Given the description of an element on the screen output the (x, y) to click on. 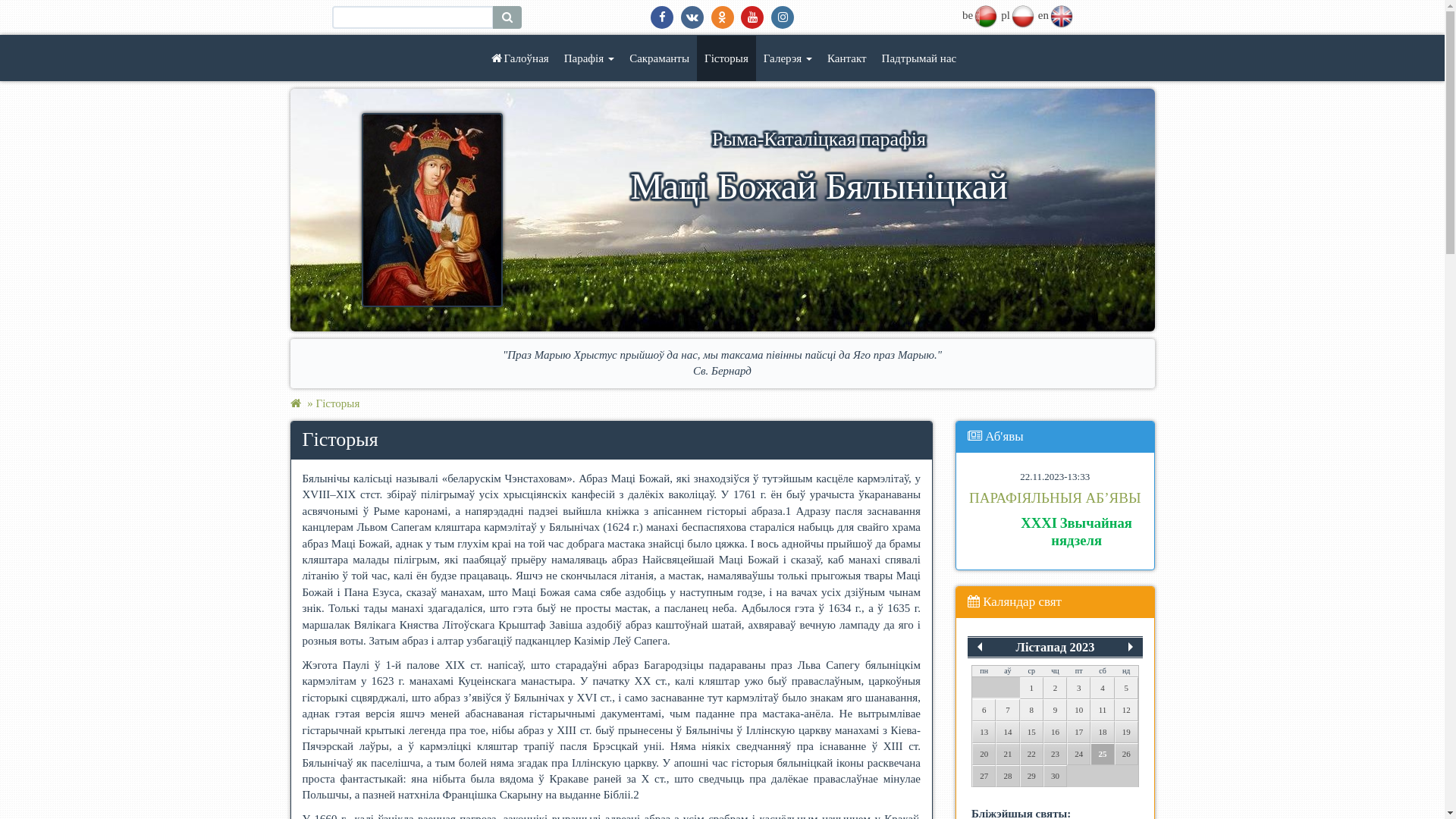
23 Element type: text (1054, 754)
28 Element type: text (1007, 776)
30 Element type: text (1054, 776)
1 Element type: text (1031, 688)
4 Element type: text (1101, 688)
21 Element type: text (1007, 754)
be Element type: text (984, 15)
en Element type: text (1060, 15)
next Element type: text (1130, 646)
10 Element type: text (1078, 710)
19 Element type: text (1126, 732)
26 Element type: text (1126, 754)
24 Element type: text (1078, 754)
prev Element type: text (979, 646)
25 Element type: text (1101, 754)
5 Element type: text (1126, 688)
7 Element type: text (1007, 710)
22 Element type: text (1031, 754)
pl Element type: text (1022, 15)
2 Element type: text (1054, 688)
27 Element type: text (983, 776)
8 Element type: text (1031, 710)
3 Element type: text (1078, 688)
13 Element type: text (983, 732)
11 Element type: text (1101, 710)
29 Element type: text (1031, 776)
17 Element type: text (1078, 732)
12 Element type: text (1126, 710)
6 Element type: text (983, 710)
9 Element type: text (1054, 710)
18 Element type: text (1101, 732)
16 Element type: text (1054, 732)
20 Element type: text (983, 754)
15 Element type: text (1031, 732)
14 Element type: text (1007, 732)
